Given the description of an element on the screen output the (x, y) to click on. 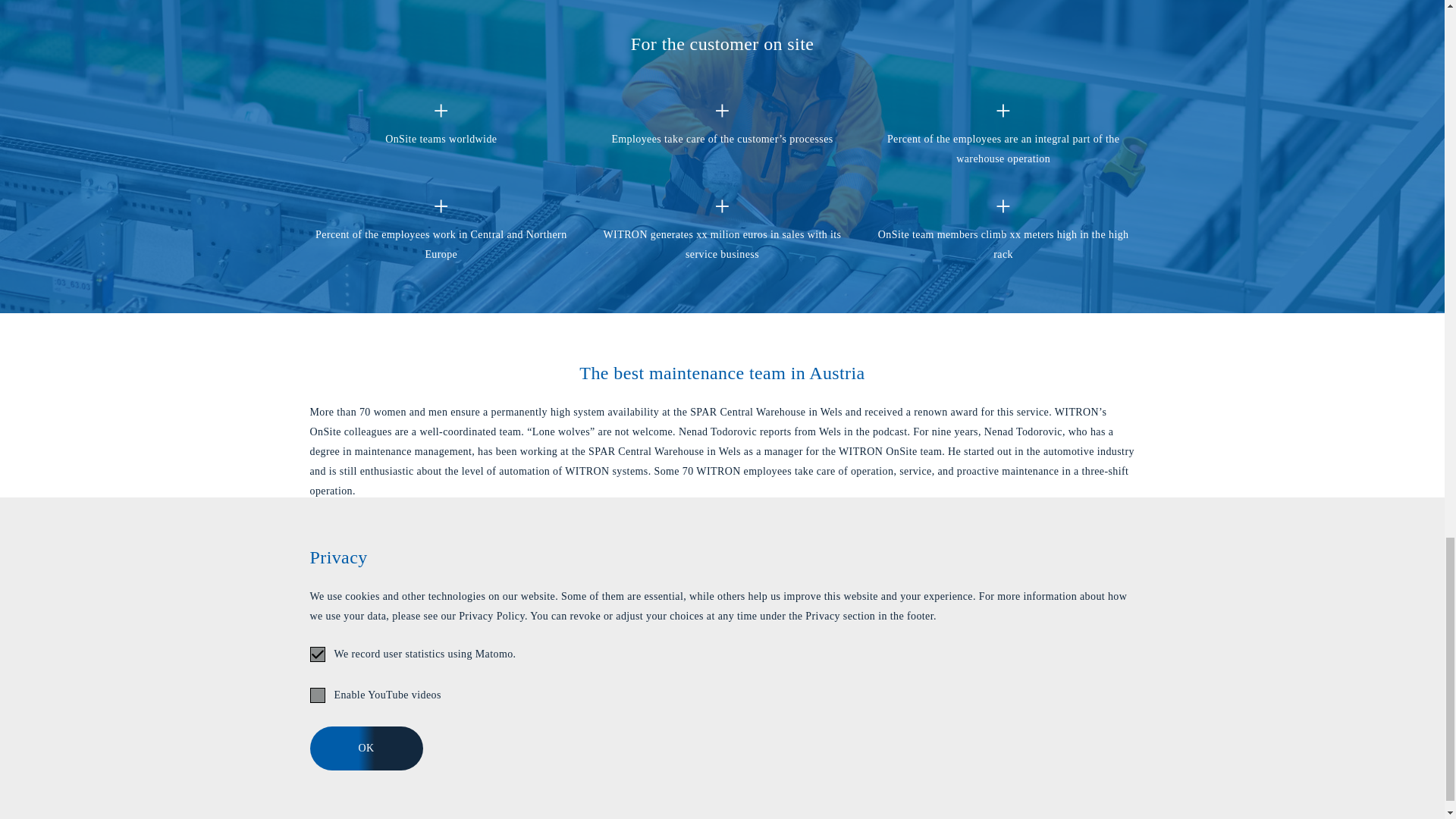
Phone (852, 762)
E-Mail (785, 762)
LinkedIn (986, 762)
Instagram (1118, 762)
Xing (919, 762)
Podcast (721, 636)
Facebook (1051, 762)
